Given the description of an element on the screen output the (x, y) to click on. 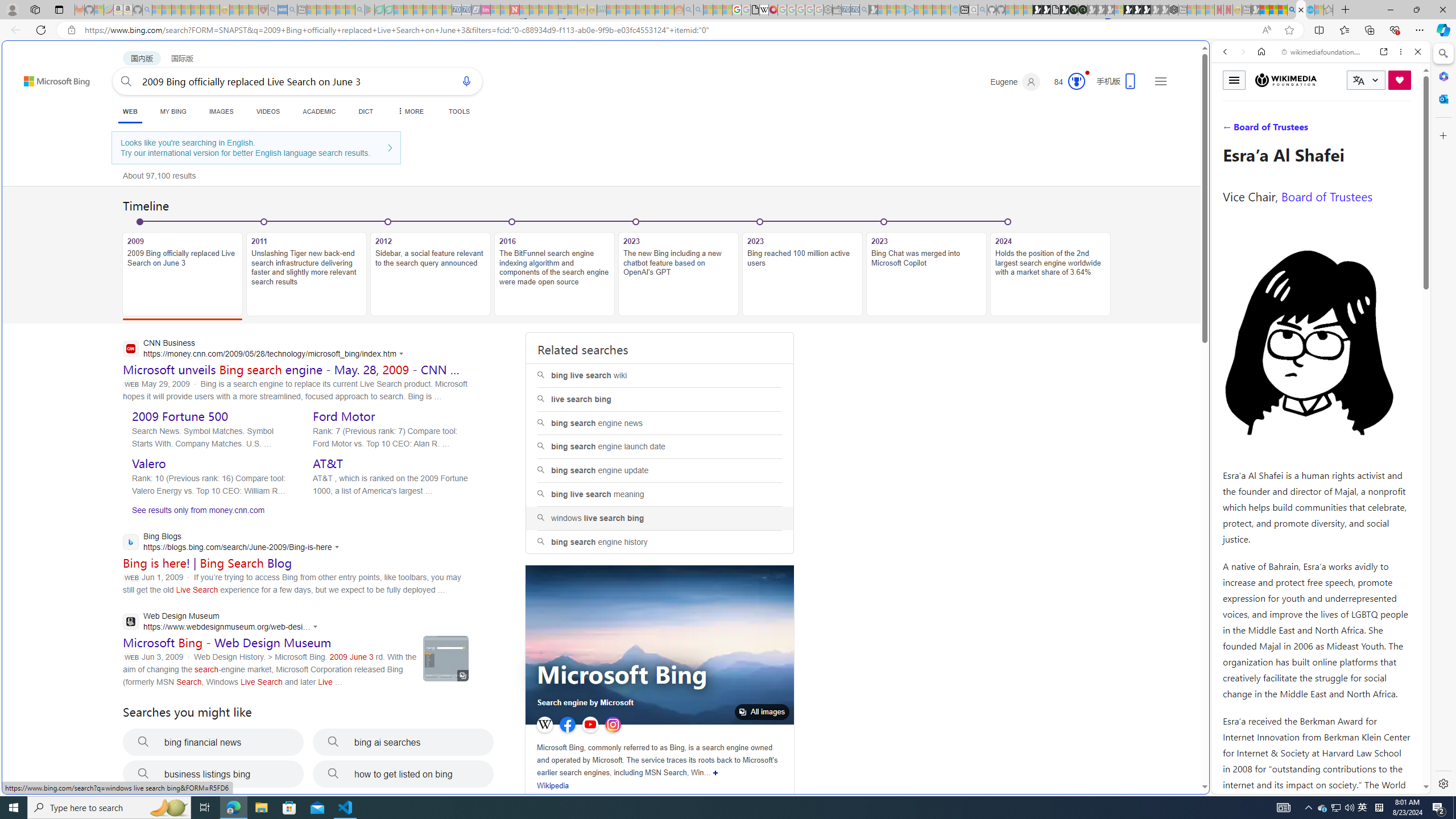
how to get listed on bing (403, 773)
Bing AI - Search (1291, 9)
Frequently visited (965, 151)
bing ai searches (403, 741)
Ford Motor (344, 415)
TOOLS (459, 111)
ACADEMIC (319, 111)
google_privacy_policy_zh-CN.pdf (754, 9)
Facebook (567, 724)
TOOLS (459, 111)
